Given the description of an element on the screen output the (x, y) to click on. 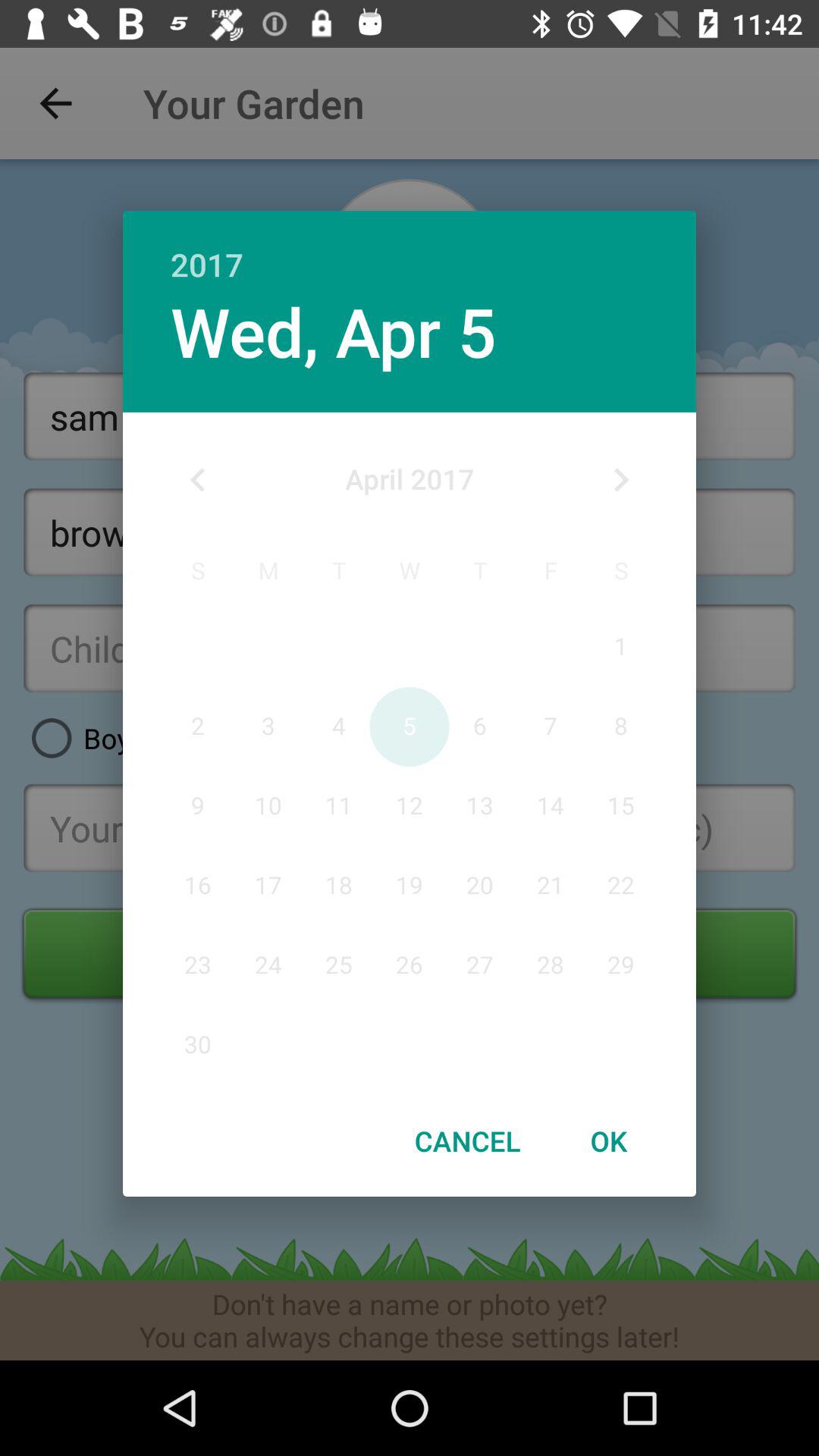
launch the cancel icon (467, 1140)
